Given the description of an element on the screen output the (x, y) to click on. 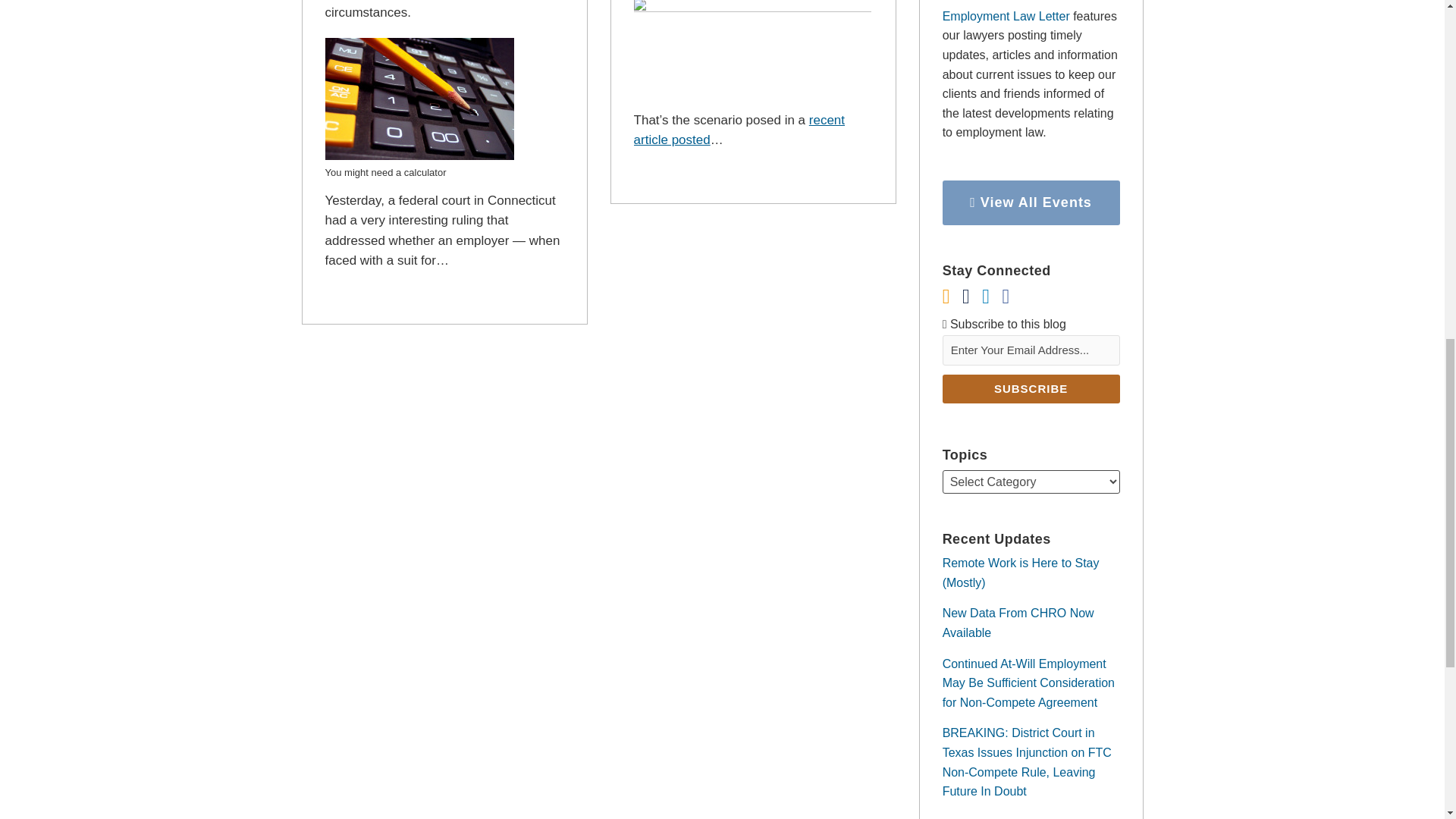
Subscribe (1030, 388)
recent article posted (738, 130)
calculat (418, 101)
Subscribe (1030, 388)
View All Events (1030, 202)
Employment Law Letter (1006, 15)
